Given the description of an element on the screen output the (x, y) to click on. 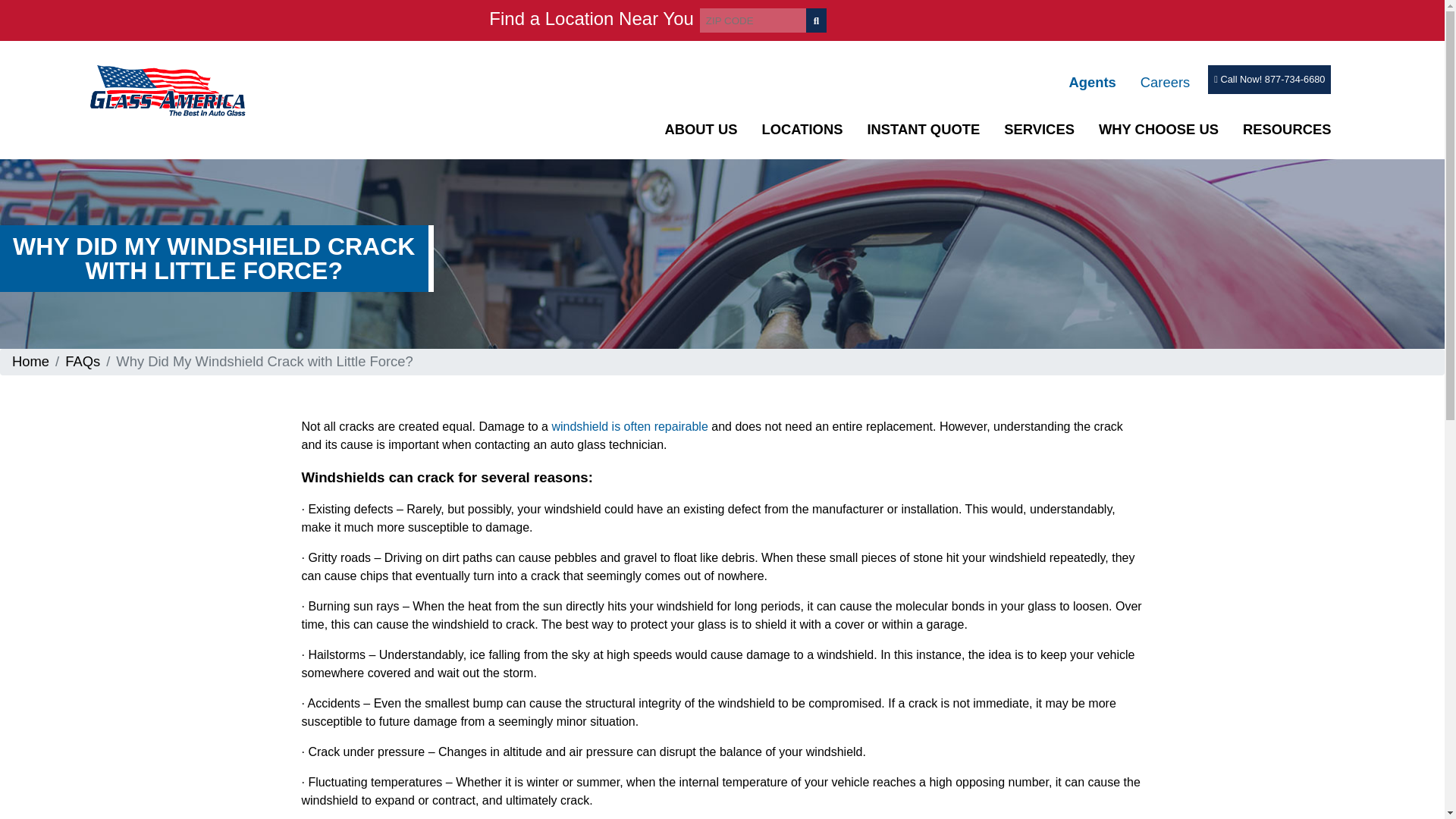
LOCATIONS (802, 129)
ABOUT US (699, 129)
Call Now! 877-734-6680 (1269, 79)
Home (30, 360)
Agents (1091, 82)
INSTANT QUOTE (922, 129)
WHY CHOOSE US (1158, 129)
FAQs (82, 360)
windshield is often repairable (629, 426)
Careers (1164, 82)
